Given the description of an element on the screen output the (x, y) to click on. 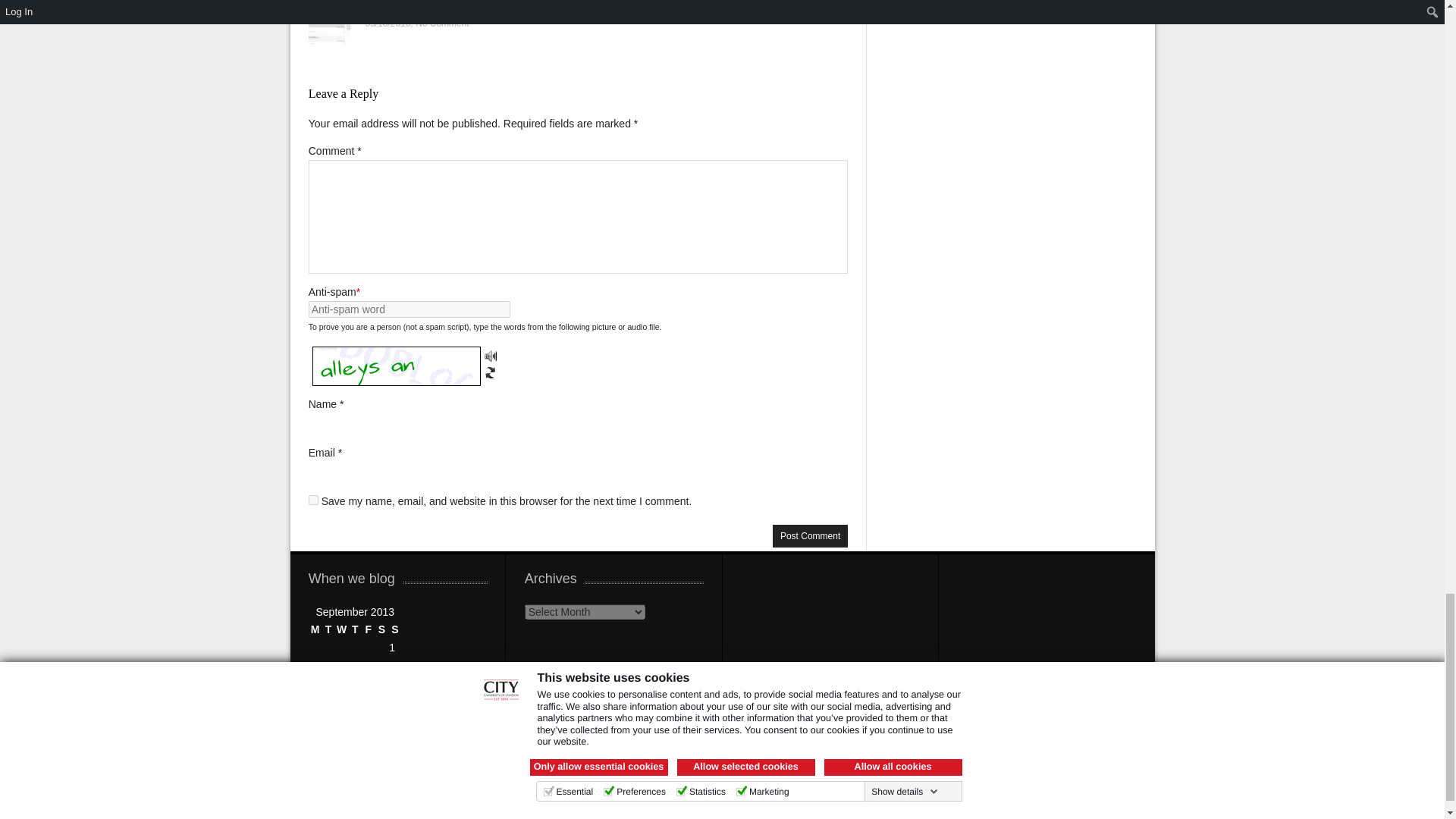
yes (313, 500)
Post Comment (810, 535)
